Given the description of an element on the screen output the (x, y) to click on. 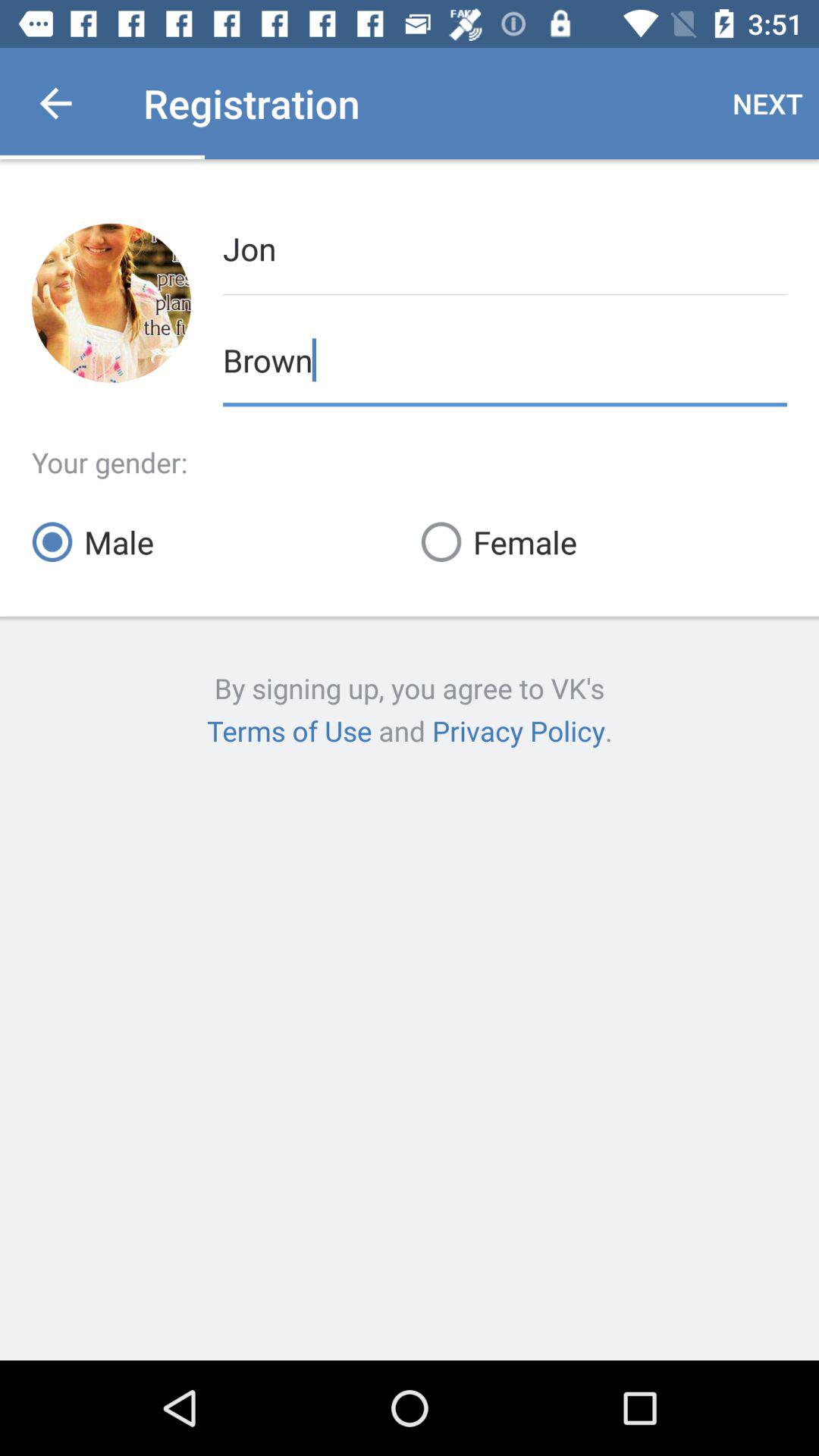
tap brown (504, 358)
